Given the description of an element on the screen output the (x, y) to click on. 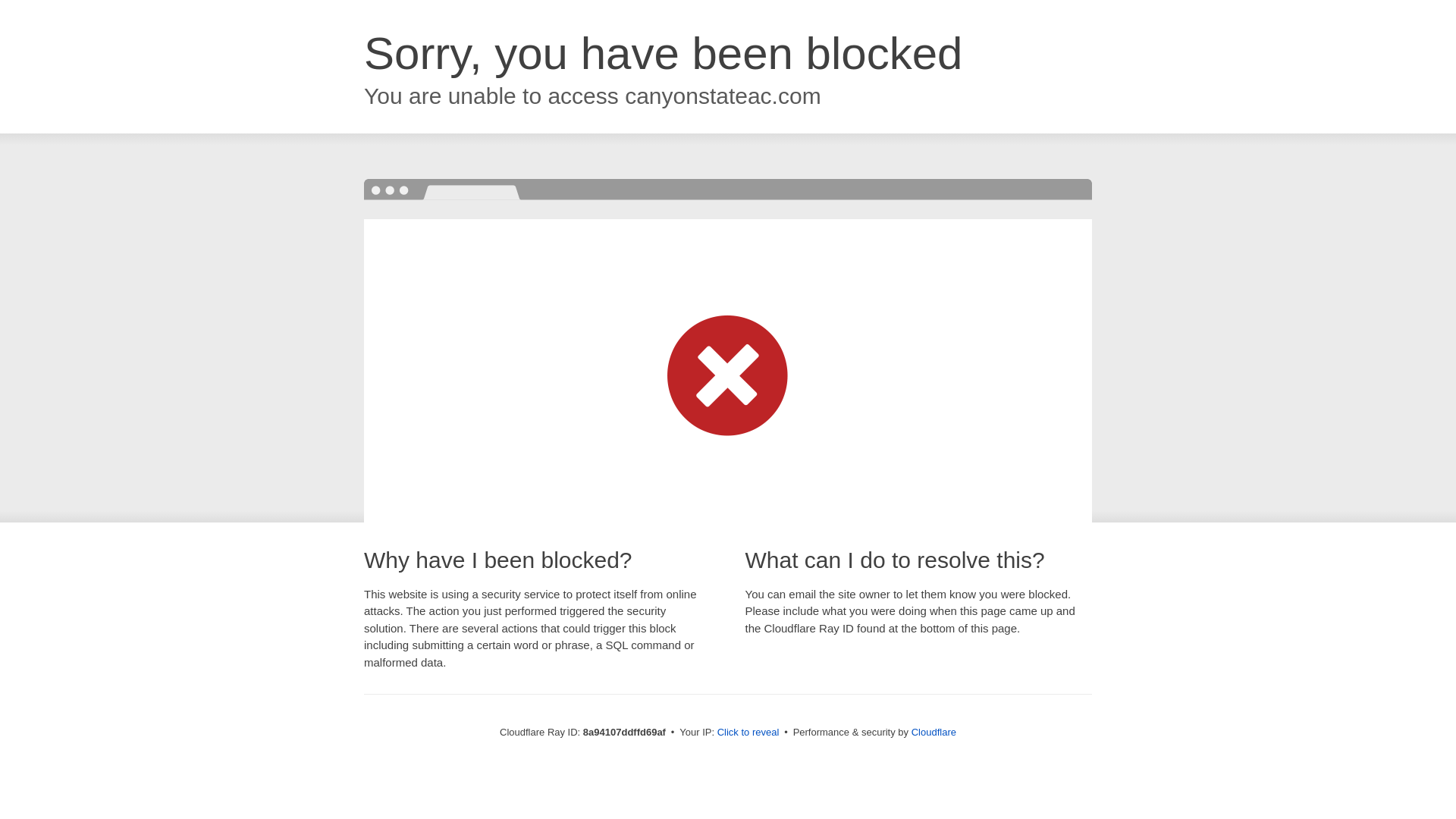
Cloudflare (933, 731)
Click to reveal (747, 732)
